Given the description of an element on the screen output the (x, y) to click on. 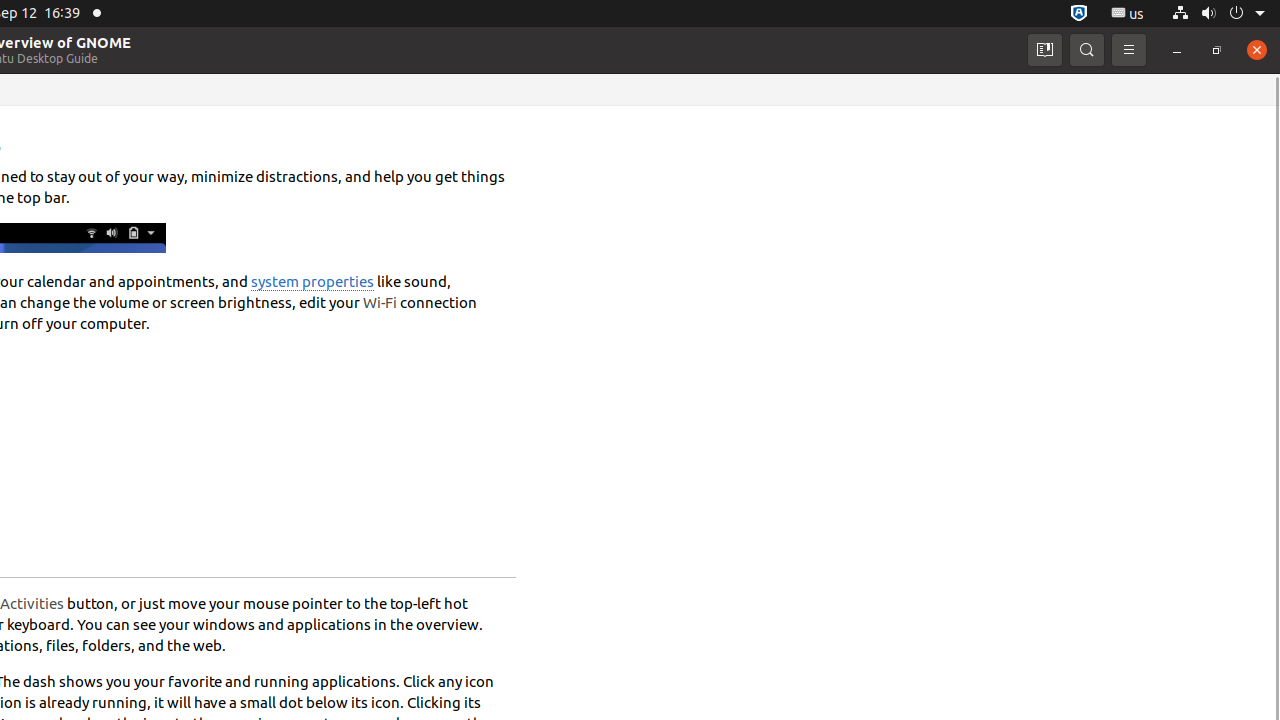
Minimize Element type: push-button (1177, 50)
system properties Element type: link (312, 281)
Close Element type: push-button (1257, 50)
Restore Element type: push-button (1217, 50)
